Given the description of an element on the screen output the (x, y) to click on. 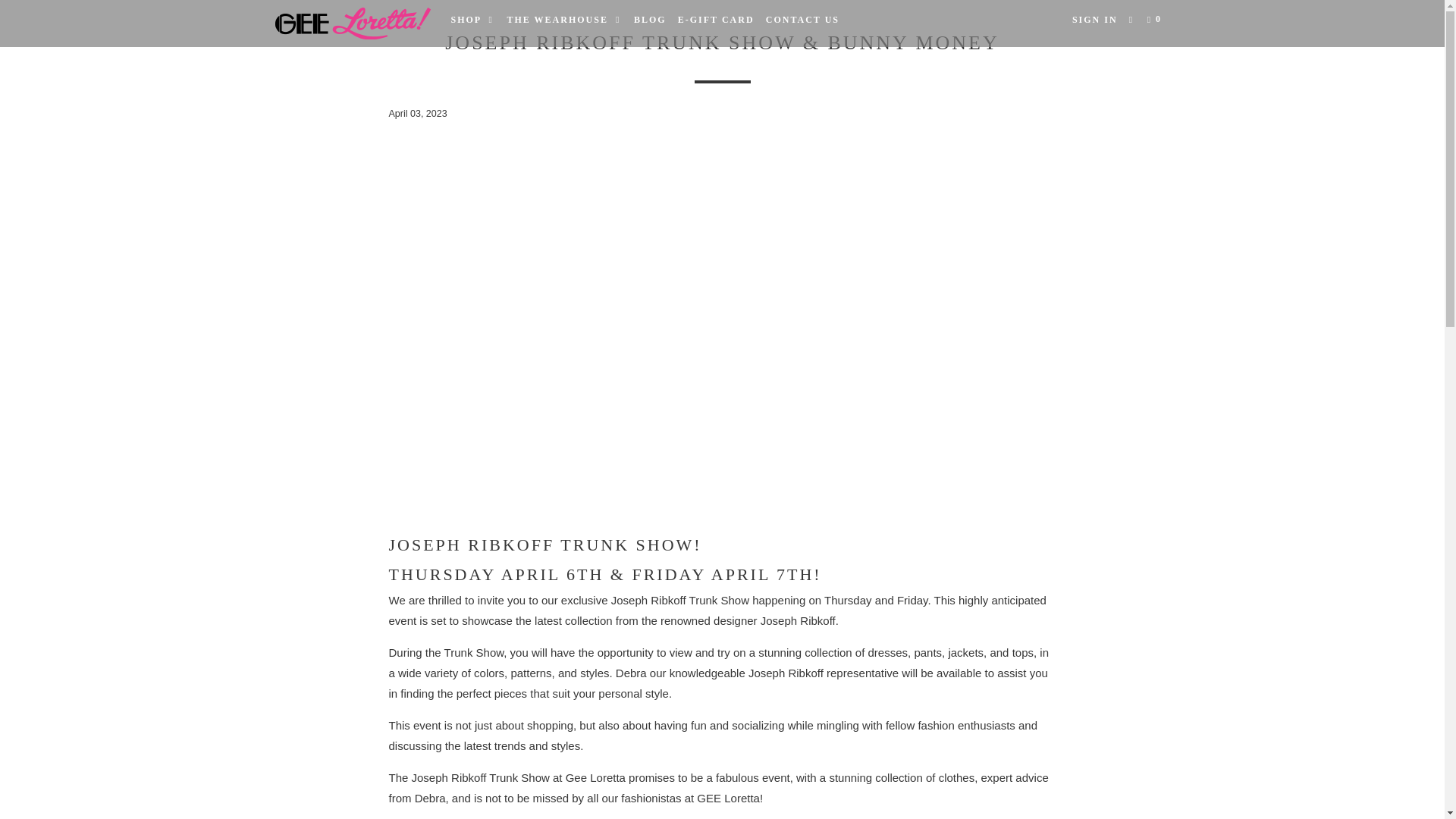
E-GIFT CARD (716, 19)
BLOG (649, 19)
My Account  (1094, 19)
SHOP   (471, 19)
Gee Loretta (352, 23)
0 (1155, 19)
SIGN IN (1094, 19)
THE WEARHOUSE   (563, 19)
CONTACT US (802, 19)
